Given the description of an element on the screen output the (x, y) to click on. 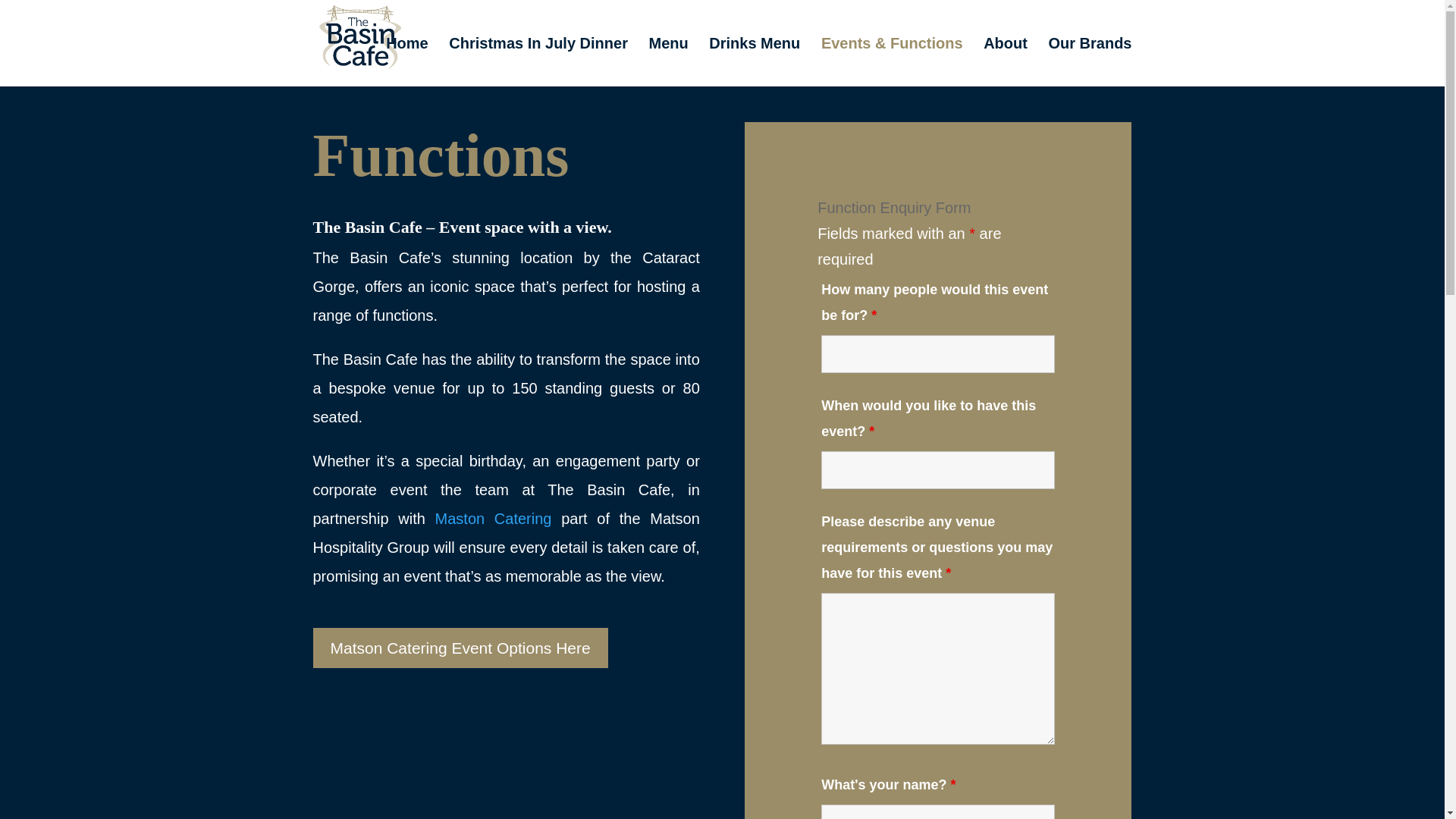
Maston Catering (498, 518)
About (1005, 61)
Drinks Menu (754, 61)
Christmas In July Dinner (537, 61)
Matson Catering Event Options Here (460, 647)
Our Brands (1089, 61)
Matson Catering  (498, 518)
